Given the description of an element on the screen output the (x, y) to click on. 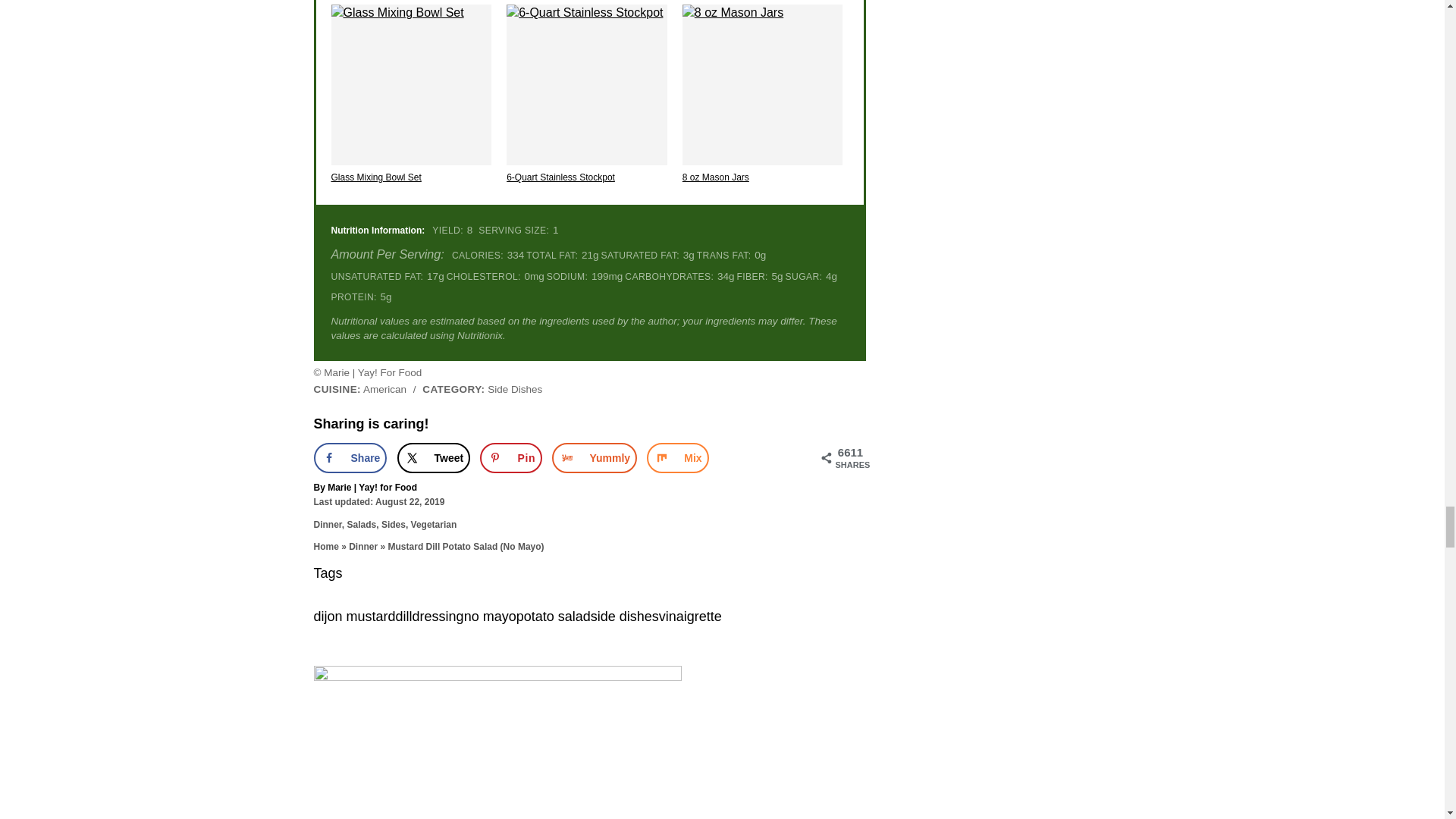
Share on X (433, 458)
Share on Facebook (350, 458)
Pin (510, 458)
Share on Yummly (594, 458)
Share on Mix (676, 458)
Tweet (433, 458)
Share (350, 458)
Save to Pinterest (510, 458)
